Given the description of an element on the screen output the (x, y) to click on. 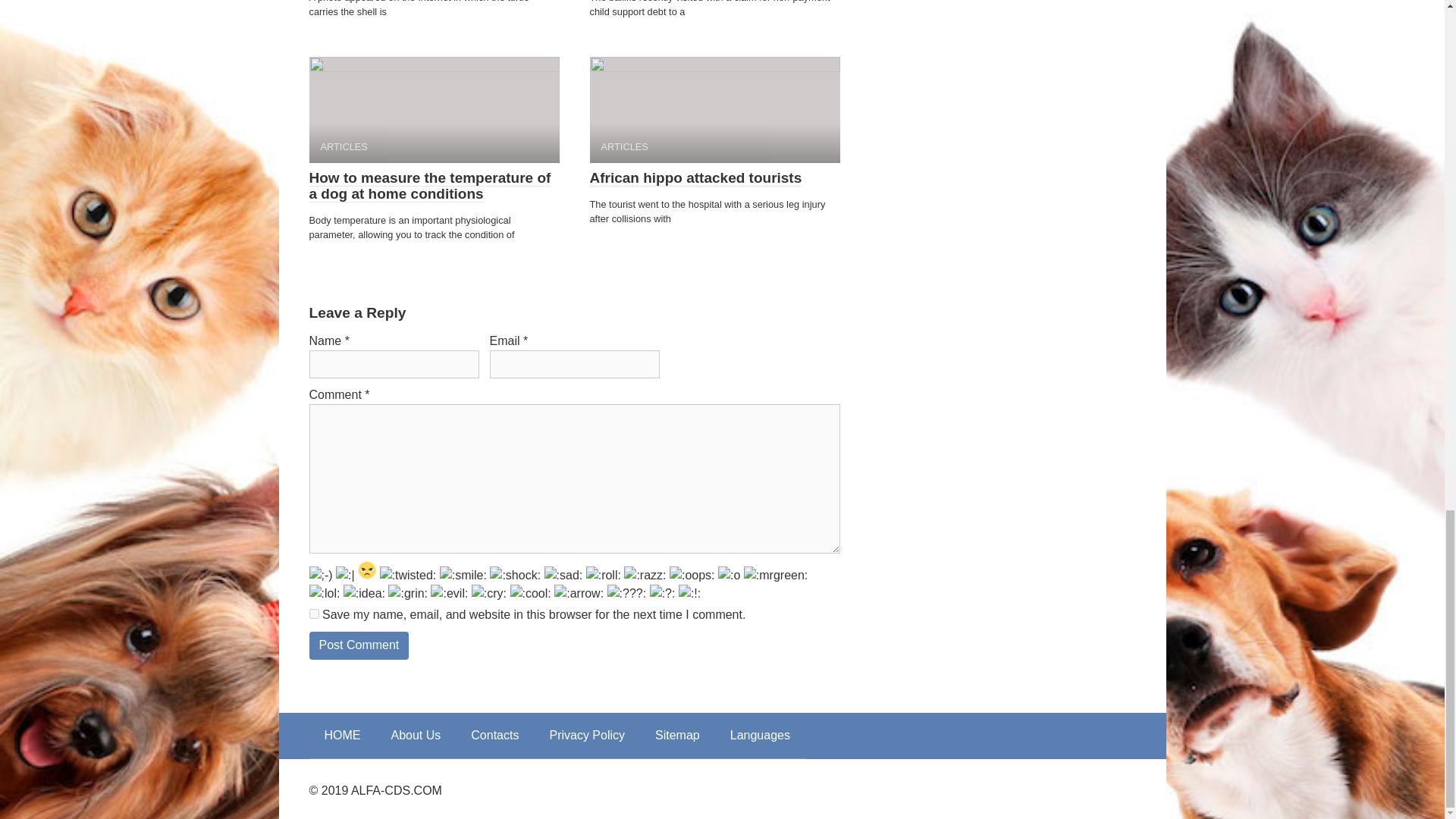
Post Comment (358, 645)
ARTICLES (433, 109)
How to measure the temperature of a dog at home conditions (429, 185)
yes (313, 614)
Post Comment (358, 645)
African hippo attacked tourists (695, 177)
ARTICLES (714, 109)
